Given the description of an element on the screen output the (x, y) to click on. 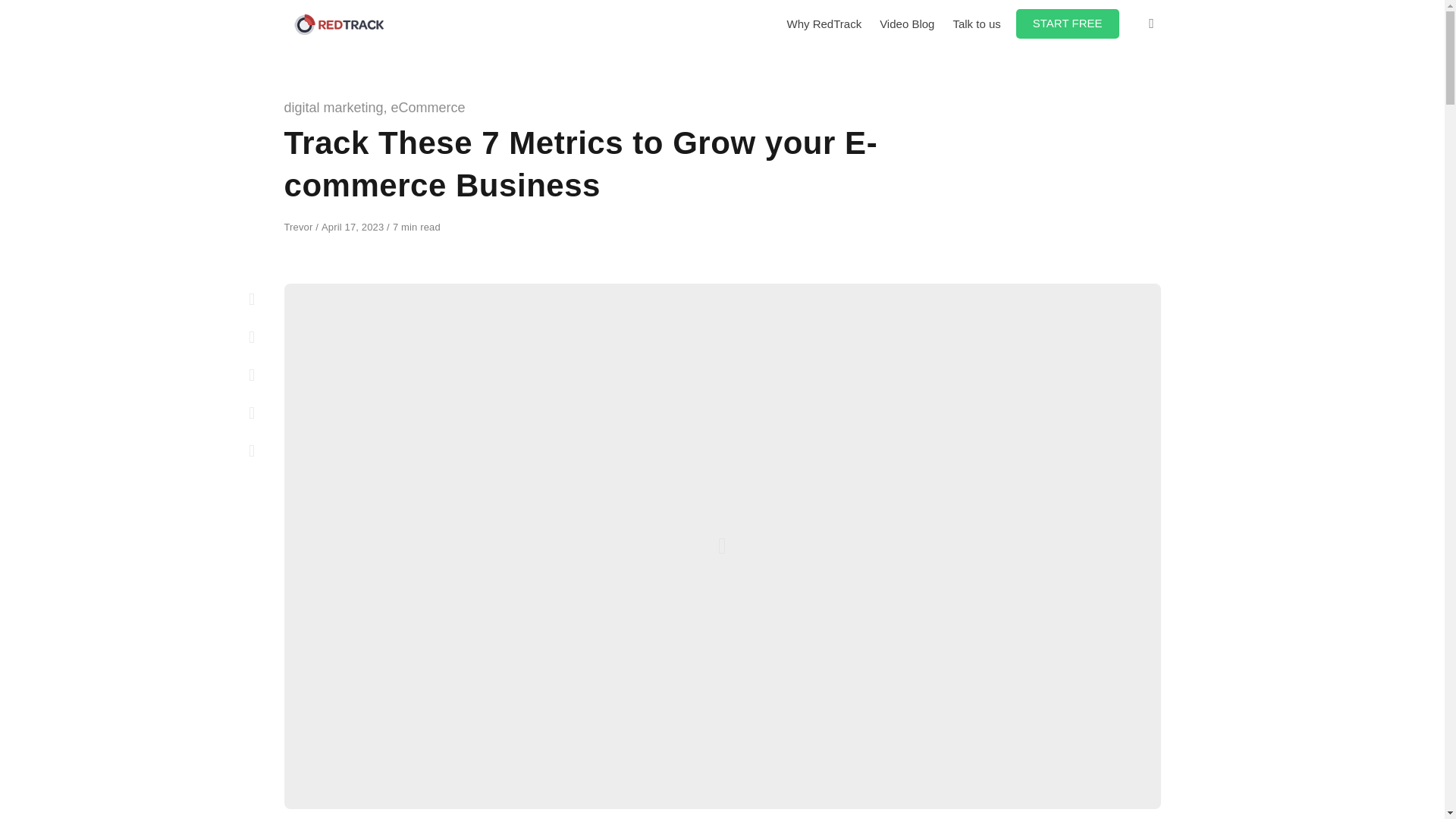
START FREE (1067, 23)
Talk to us (976, 24)
April 17, 2023 (354, 226)
Trevor (299, 226)
Why RedTrack (823, 24)
eCommerce (428, 107)
April 17, 2023 (354, 226)
digital marketing (332, 107)
Video Blog (906, 24)
